Given the description of an element on the screen output the (x, y) to click on. 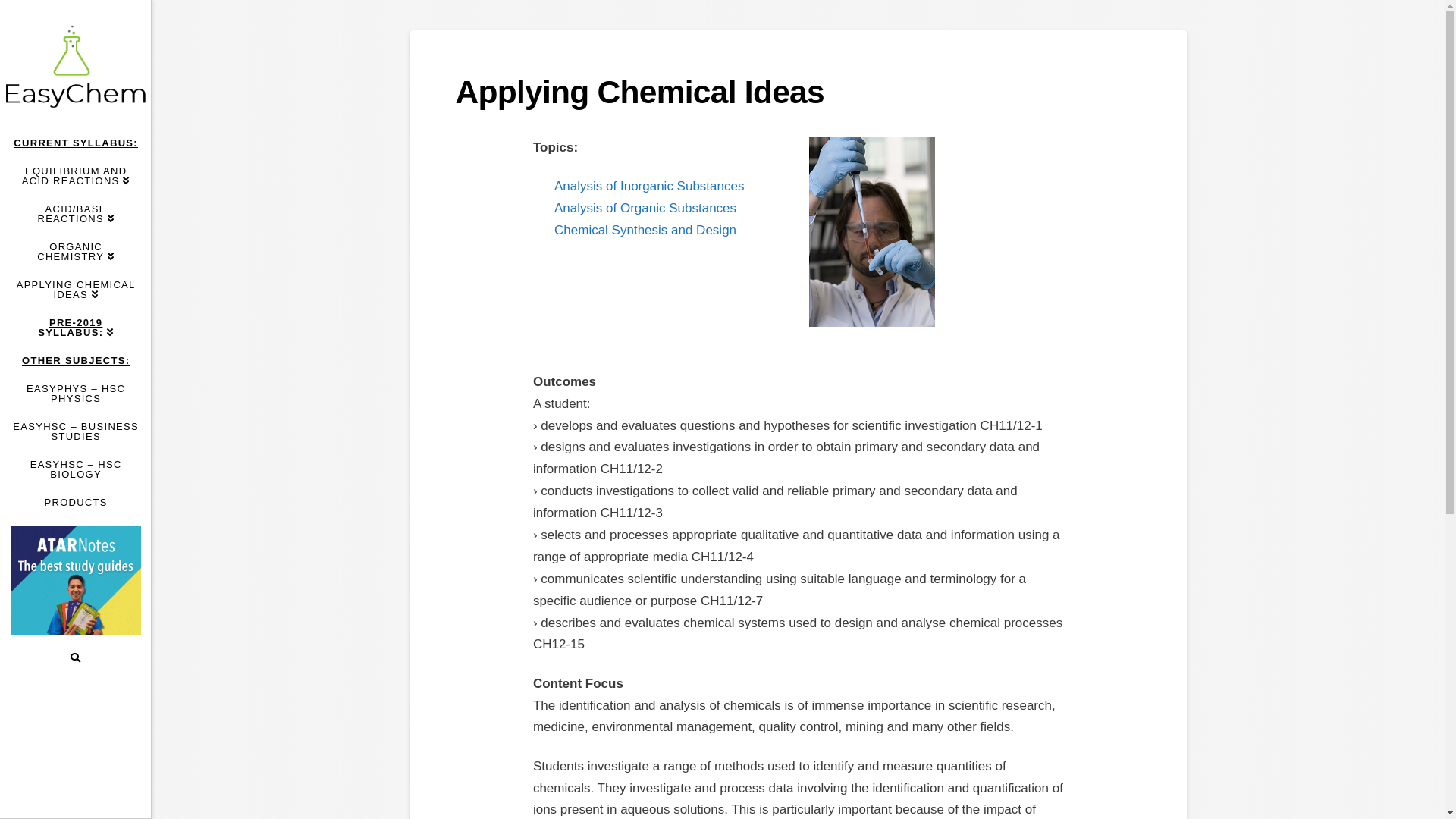
CURRENT SYLLABUS: Element type: text (75, 142)
ORGANIC CHEMISTRY Element type: text (75, 251)
Analysis of Inorganic Substances Element type: text (648, 185)
PRODUCTS Element type: text (75, 502)
Analysis of Organic Substances Element type: text (645, 207)
PRE-2019 SYLLABUS: Element type: text (75, 327)
OTHER SUBJECTS: Element type: text (75, 360)
ACID/BASE REACTIONS Element type: text (75, 213)
Chemical Synthesis and Design Element type: text (645, 229)
APPLYING CHEMICAL IDEAS Element type: text (75, 289)
EQUILIBRIUM AND ACID REACTIONS Element type: text (75, 175)
